Given the description of an element on the screen output the (x, y) to click on. 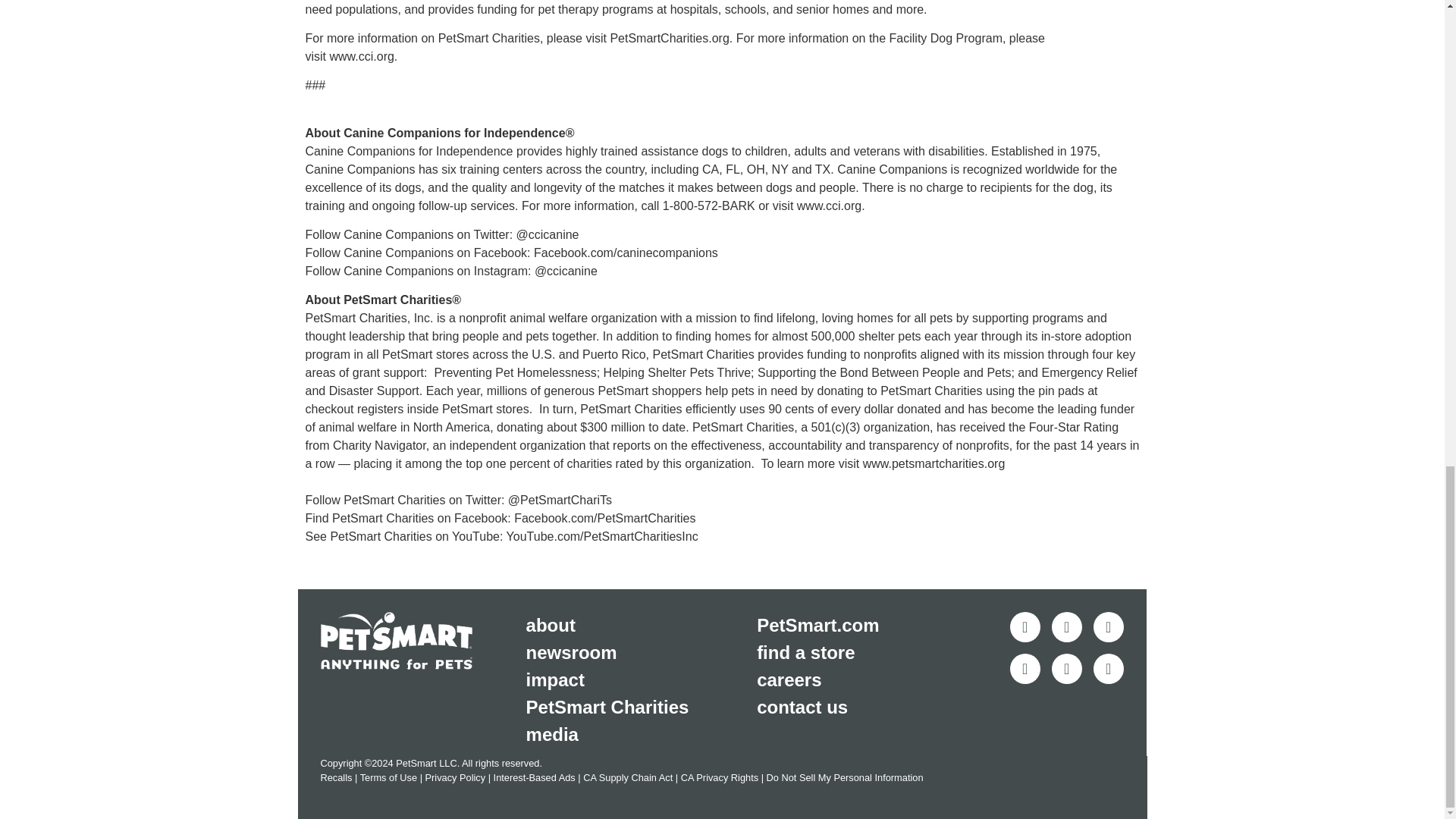
about (641, 625)
